Given the description of an element on the screen output the (x, y) to click on. 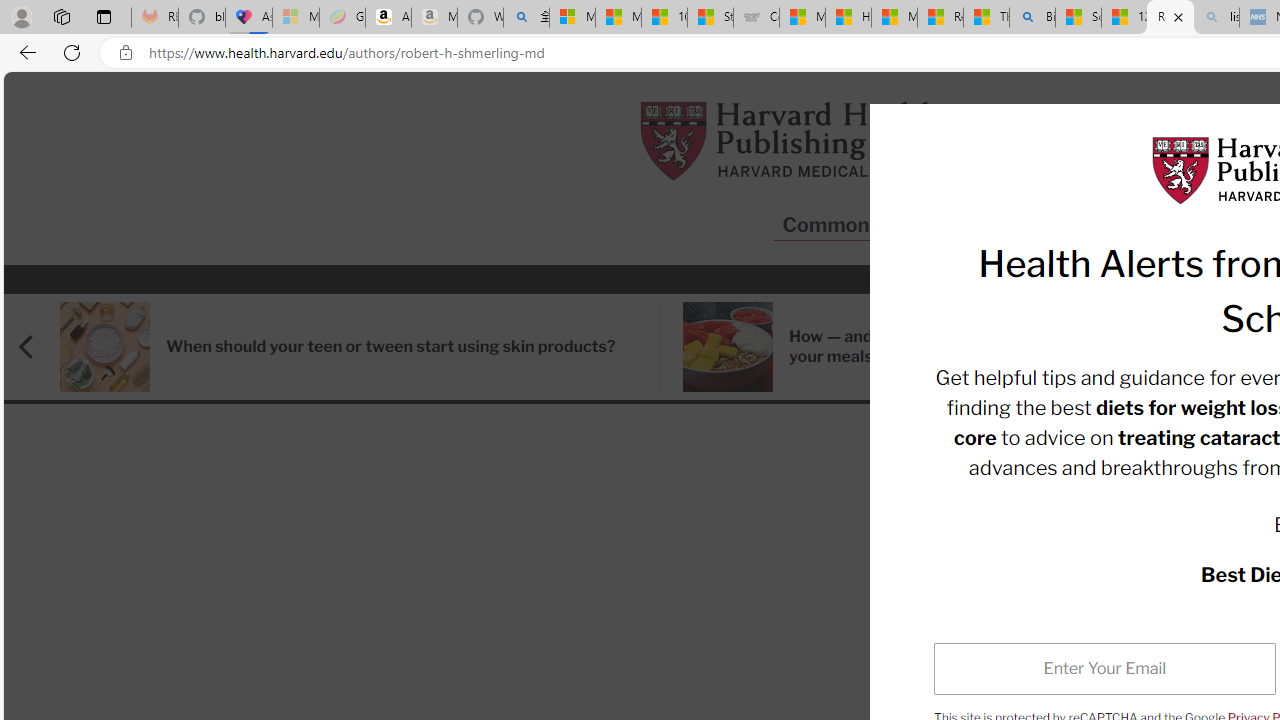
Staying Healthy (1133, 225)
Class: flickity-button-icon (27, 346)
Previous (35, 346)
